Given the description of an element on the screen output the (x, y) to click on. 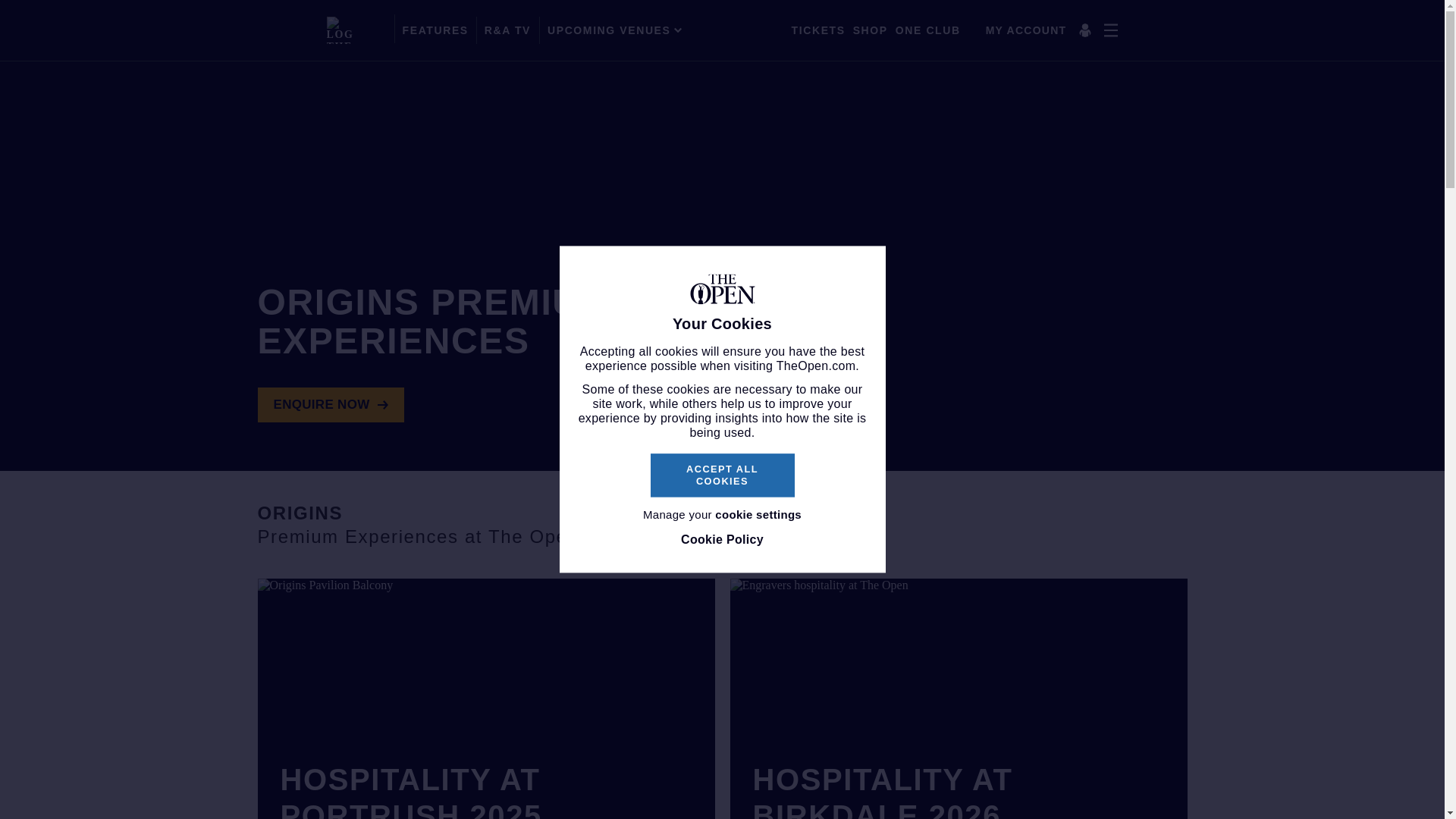
FEATURES (435, 30)
Open menu (1110, 29)
TICKETS (818, 30)
Cookie Policy (721, 540)
ONE CLUB (927, 30)
ACCEPT ALL COOKIES (722, 475)
UPCOMING VENUES (614, 30)
MY ACCOUNT (1041, 29)
SHOP (870, 30)
cookie settings (758, 513)
